Given the description of an element on the screen output the (x, y) to click on. 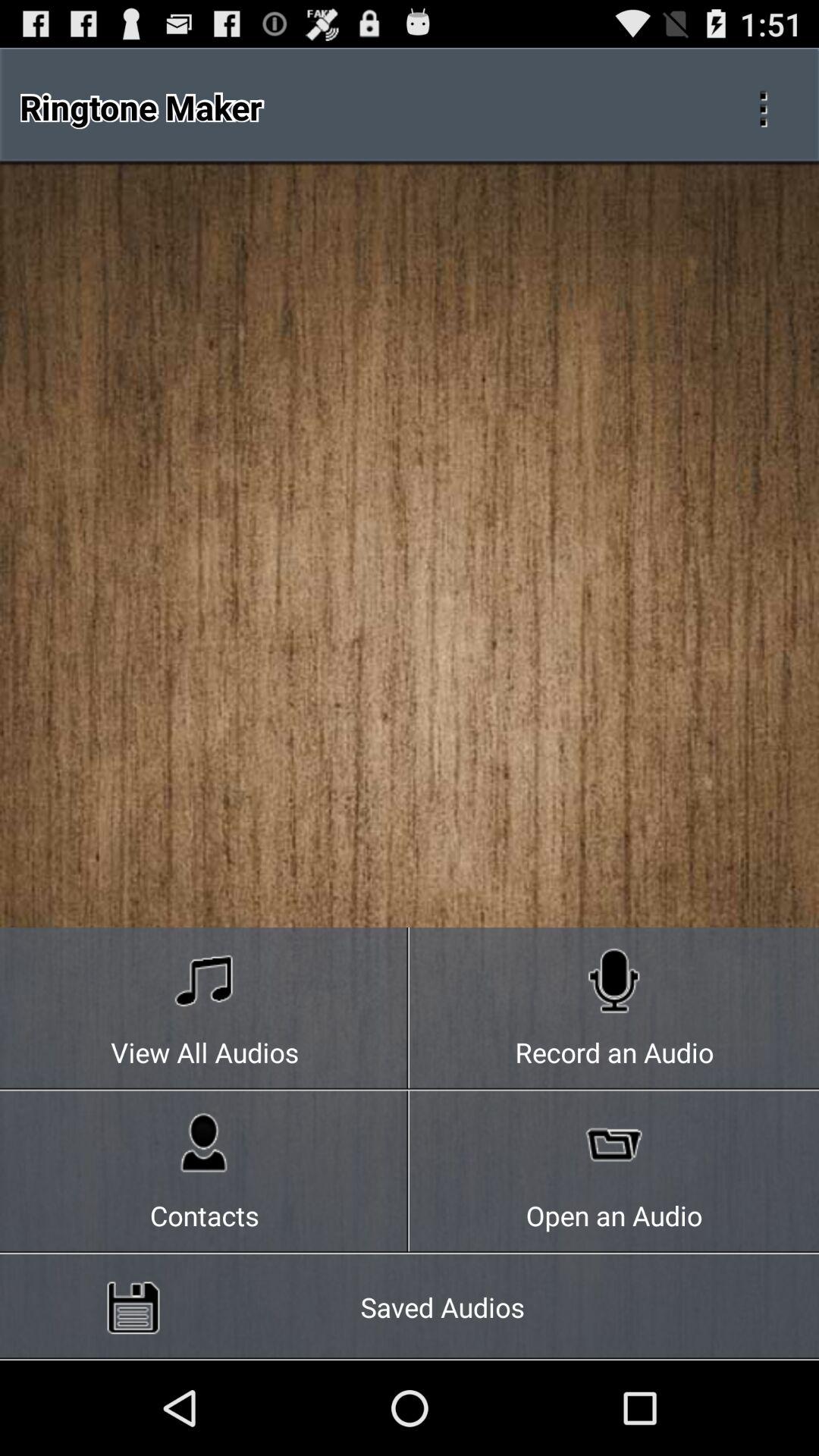
which is used to cut and joining the audio file (762, 107)
